Given the description of an element on the screen output the (x, y) to click on. 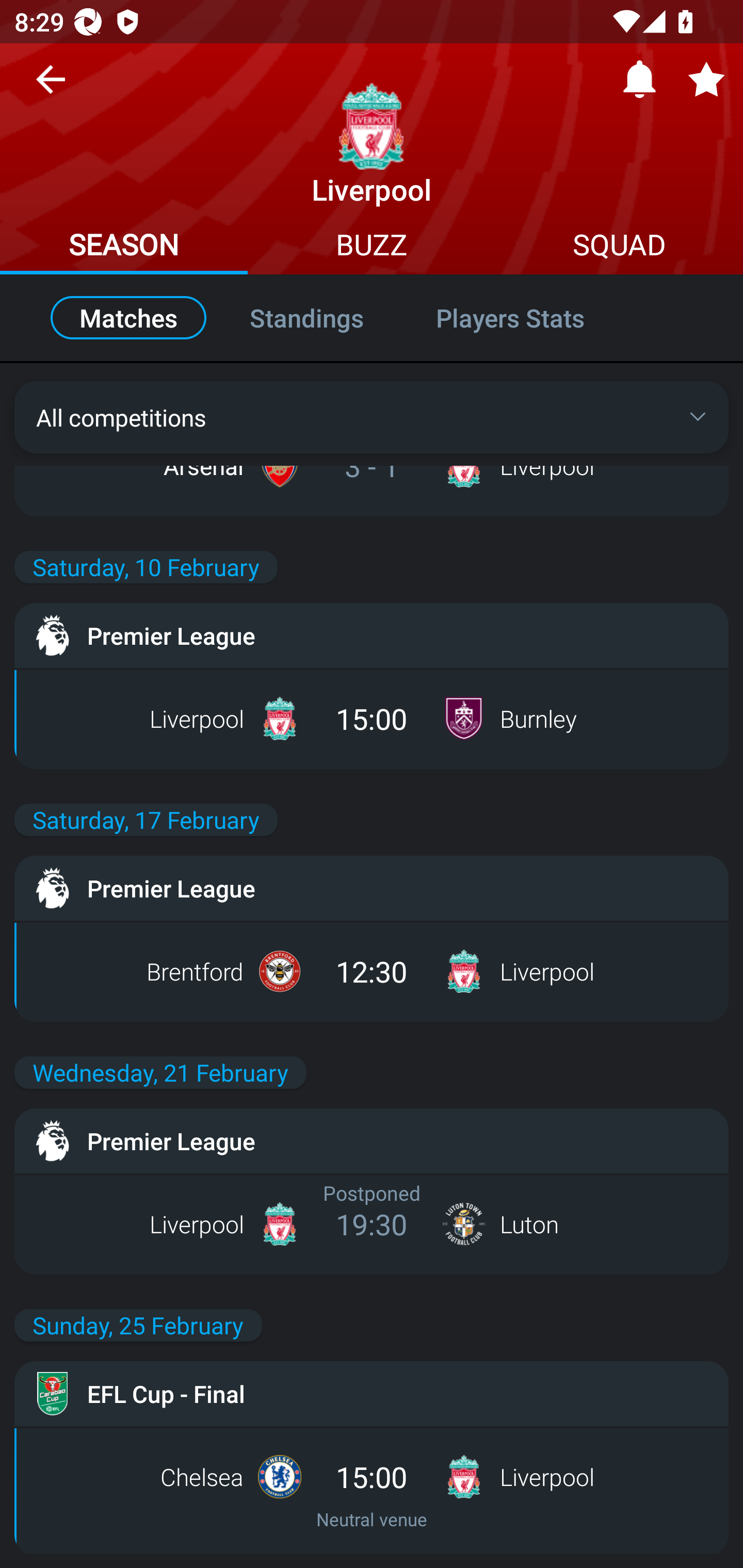
Navigate up (50, 86)
SEASON (123, 246)
BUZZ (371, 246)
SQUAD (619, 246)
Standings (306, 317)
Players Stats (531, 317)
All competitions (371, 417)
Premier League (371, 635)
Liverpool 15:00 Burnley (371, 717)
Premier League (371, 888)
Brentford 12:30 Liverpool (371, 971)
Premier League (371, 1140)
Liverpool Postponed 19:30 Luton (371, 1223)
EFL Cup - Final (371, 1393)
Chelsea 15:00 Liverpool Neutral venue (371, 1489)
